Given the description of an element on the screen output the (x, y) to click on. 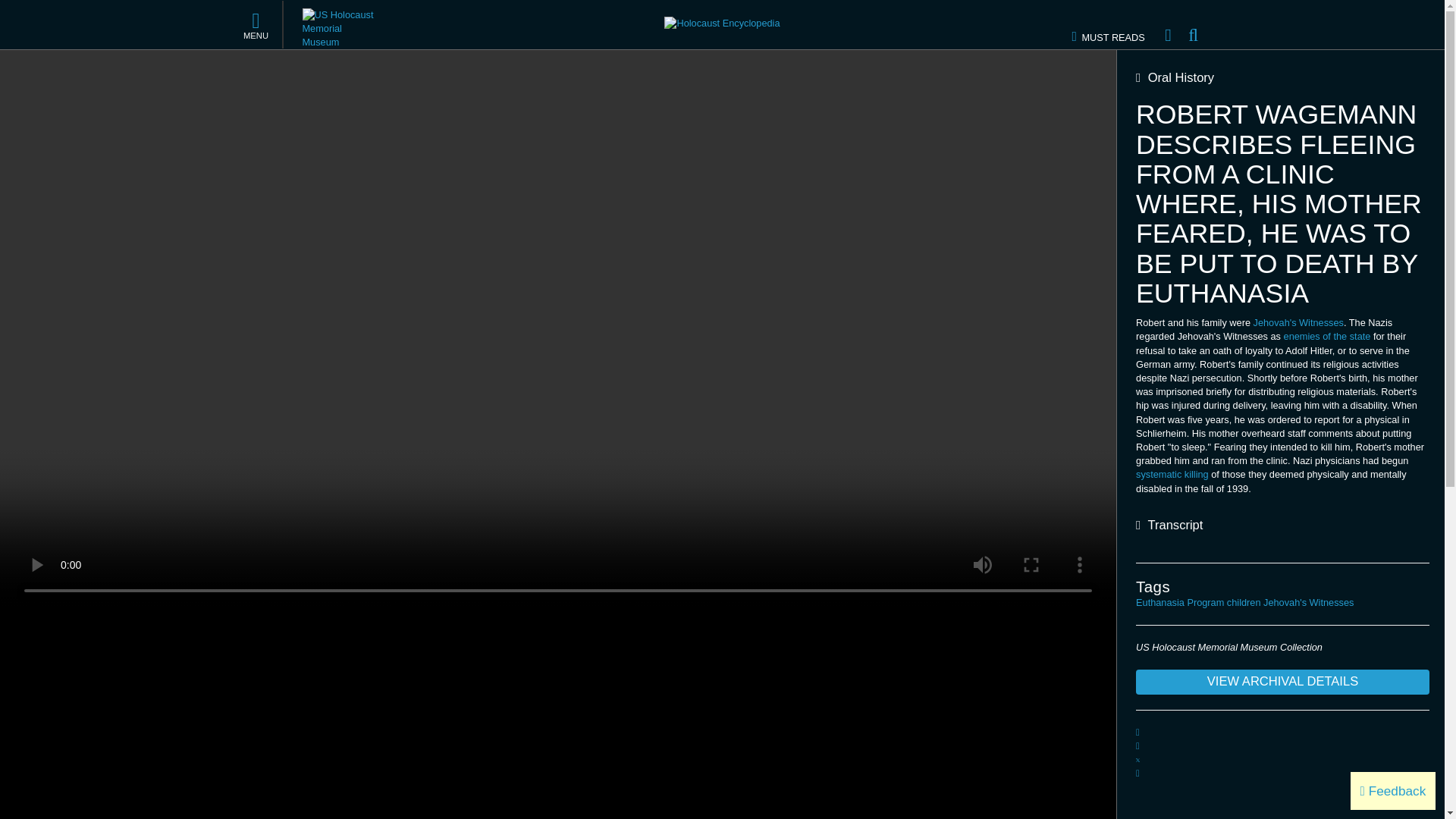
Home (1167, 24)
